Given the description of an element on the screen output the (x, y) to click on. 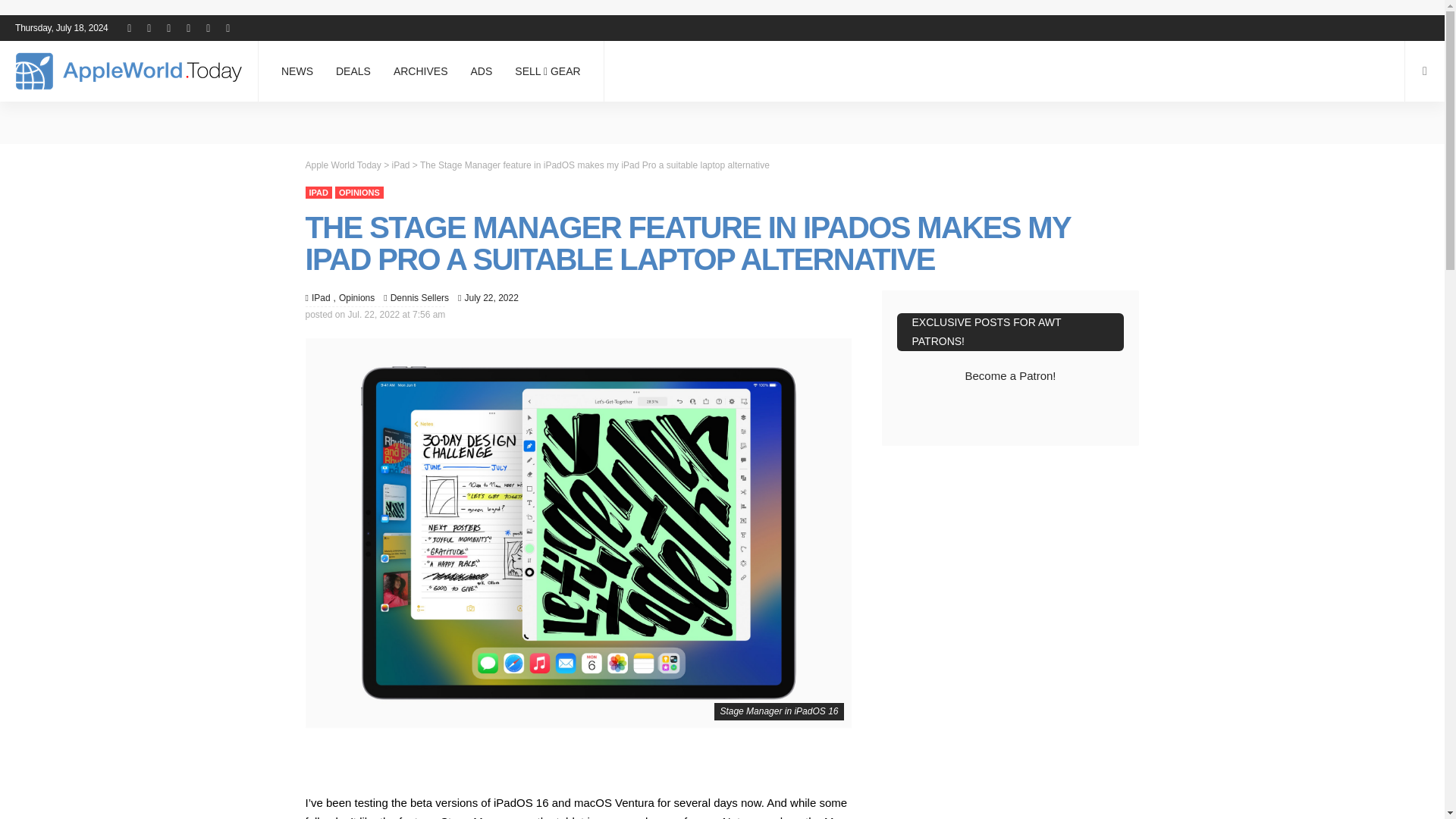
Opinions (359, 192)
iPad (317, 192)
Go to the iPad Category archives. (400, 163)
Apple World Today (128, 70)
Go to Apple World Today. (342, 163)
iPad (320, 297)
Opinions (352, 297)
